Given the description of an element on the screen output the (x, y) to click on. 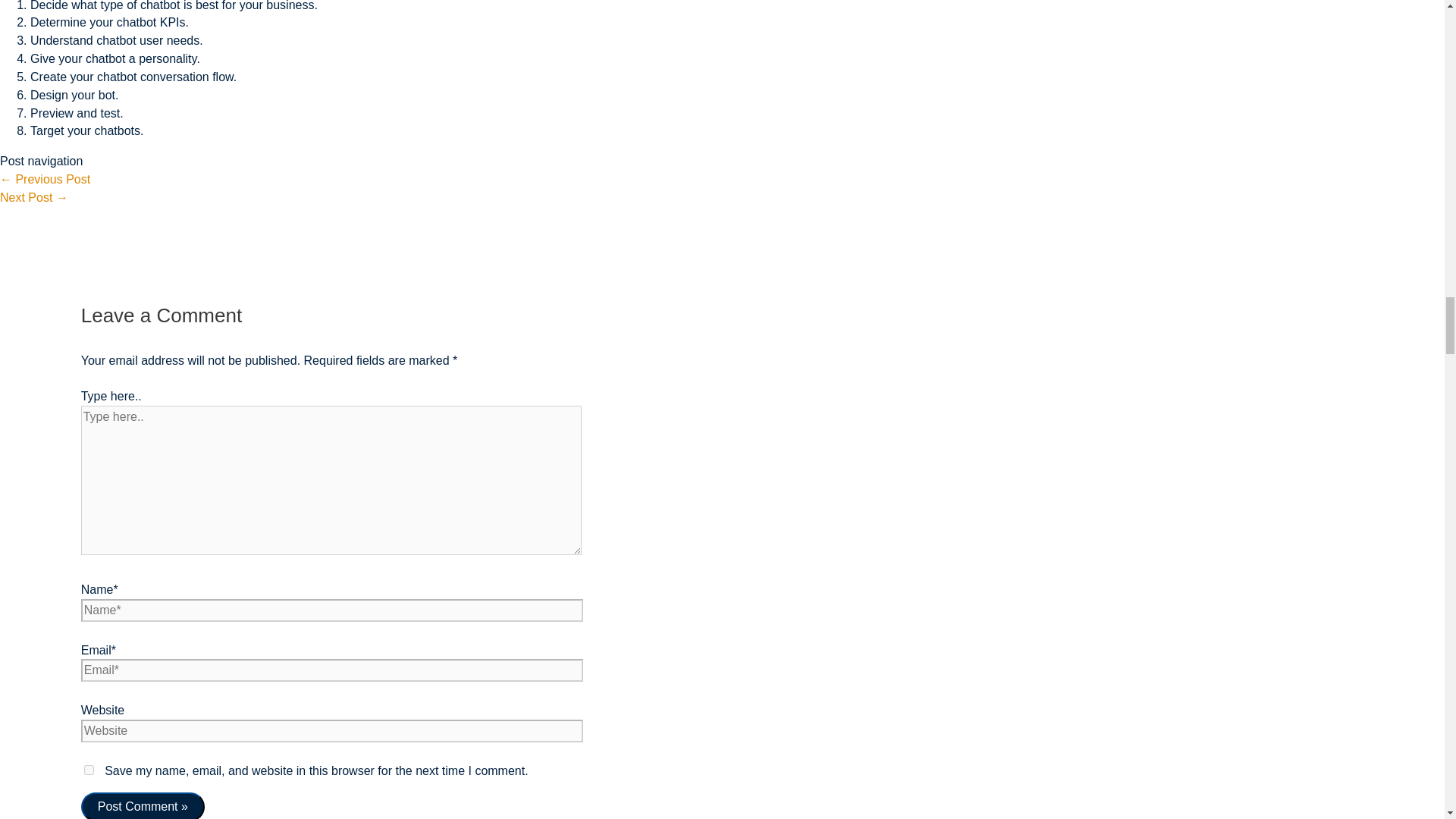
yes (89, 769)
